Given the description of an element on the screen output the (x, y) to click on. 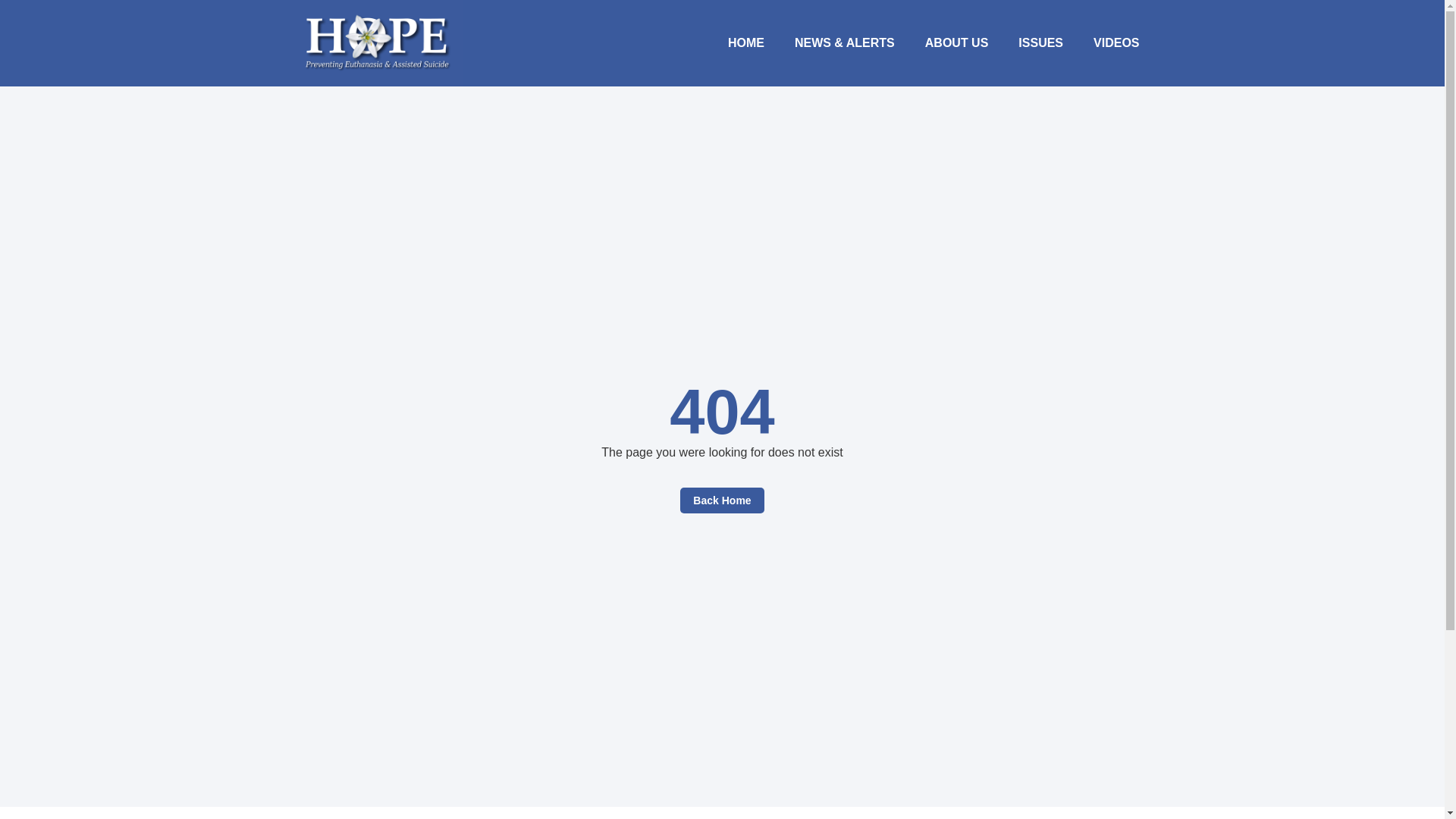
Back Home (720, 500)
VIDEOS (1116, 42)
ABOUT US (957, 42)
HOME (745, 42)
ISSUES (1040, 42)
